Given the description of an element on the screen output the (x, y) to click on. 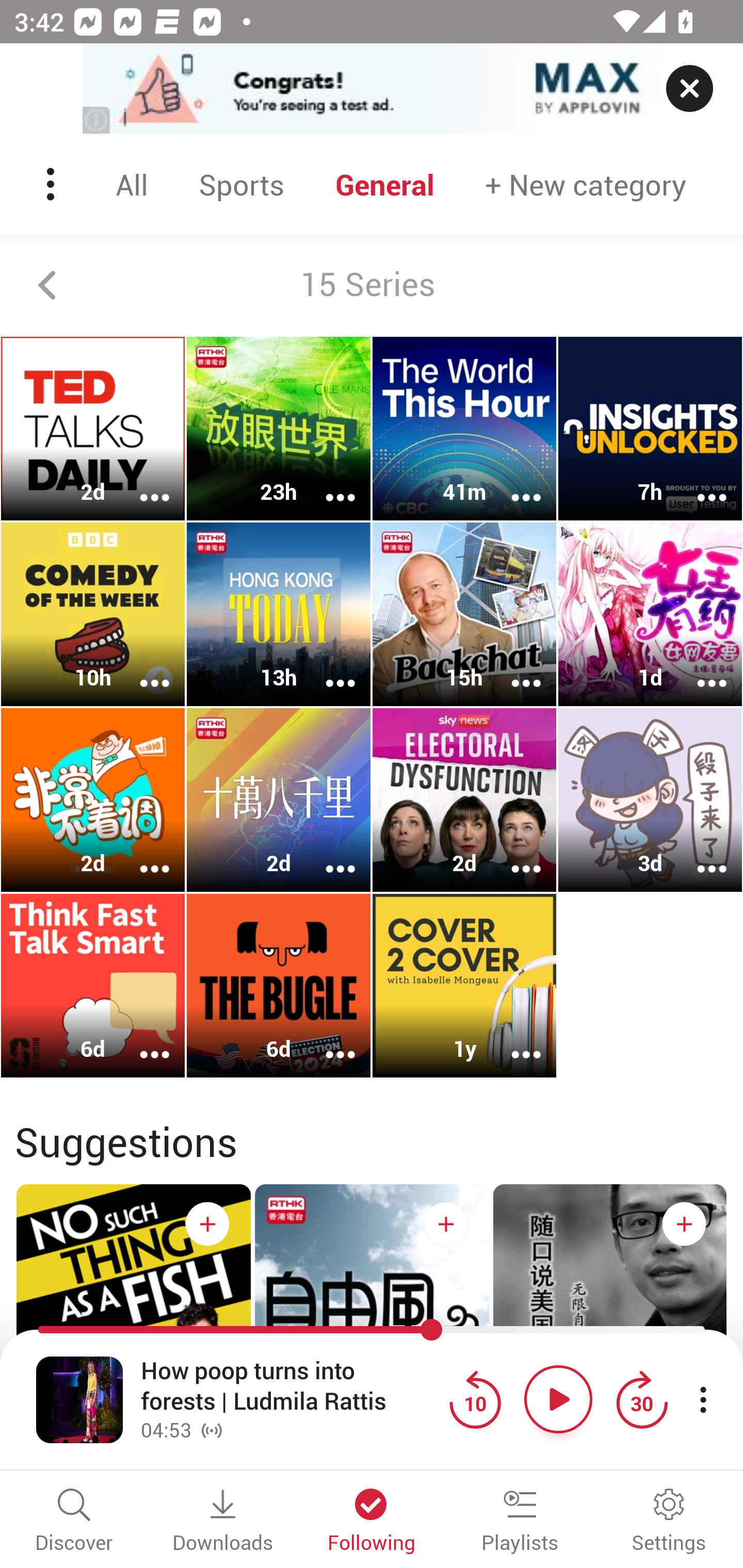
app-monetization (371, 88)
(i) (96, 119)
Menu (52, 184)
All (131, 184)
Sports (241, 184)
General (384, 184)
New category + New category (585, 184)
15 Series (371, 285)
TED Talks Daily 2d More options More options (92, 428)
放眼世界 23h More options More options (278, 428)
The World This Hour 41m More options More options (464, 428)
Insights Unlocked 7h More options More options (650, 428)
More options (141, 484)
More options (326, 484)
More options (512, 484)
More options (698, 484)
Comedy of the Week 10h More options More options (92, 614)
Hong Kong Today 13h More options More options (278, 614)
Backchat 15h More options More options (464, 614)
女王有药丨爆笑脱口秀 1d More options More options (650, 614)
More options (141, 669)
More options (326, 669)
More options (512, 669)
More options (698, 669)
非常不着调 2d More options More options (92, 799)
十萬八千里 2d More options More options (278, 799)
Electoral Dysfunction 2d More options More options (464, 799)
段子来了 3d More options More options (650, 799)
More options (141, 856)
More options (326, 856)
More options (512, 856)
More options (698, 856)
The Bugle 6d More options More options (278, 985)
Cover 2 Cover 1y More options More options (464, 985)
More options (141, 1041)
More options (326, 1041)
More options (512, 1041)
自由风自由PHONE 自由风自由PHONE Subscribe button (371, 1339)
随口说美国 随口说美国 Subscribe button (609, 1339)
Subscribe button (207, 1223)
Subscribe button (446, 1223)
Subscribe button (684, 1223)
Open fullscreen player (79, 1399)
More player controls (703, 1399)
How poop turns into forests | Ludmila Rattis (290, 1385)
Play button (558, 1398)
Jump back (475, 1399)
Jump forward (641, 1399)
Discover (74, 1521)
Downloads (222, 1521)
Following (371, 1521)
Playlists (519, 1521)
Settings (668, 1521)
